Given the description of an element on the screen output the (x, y) to click on. 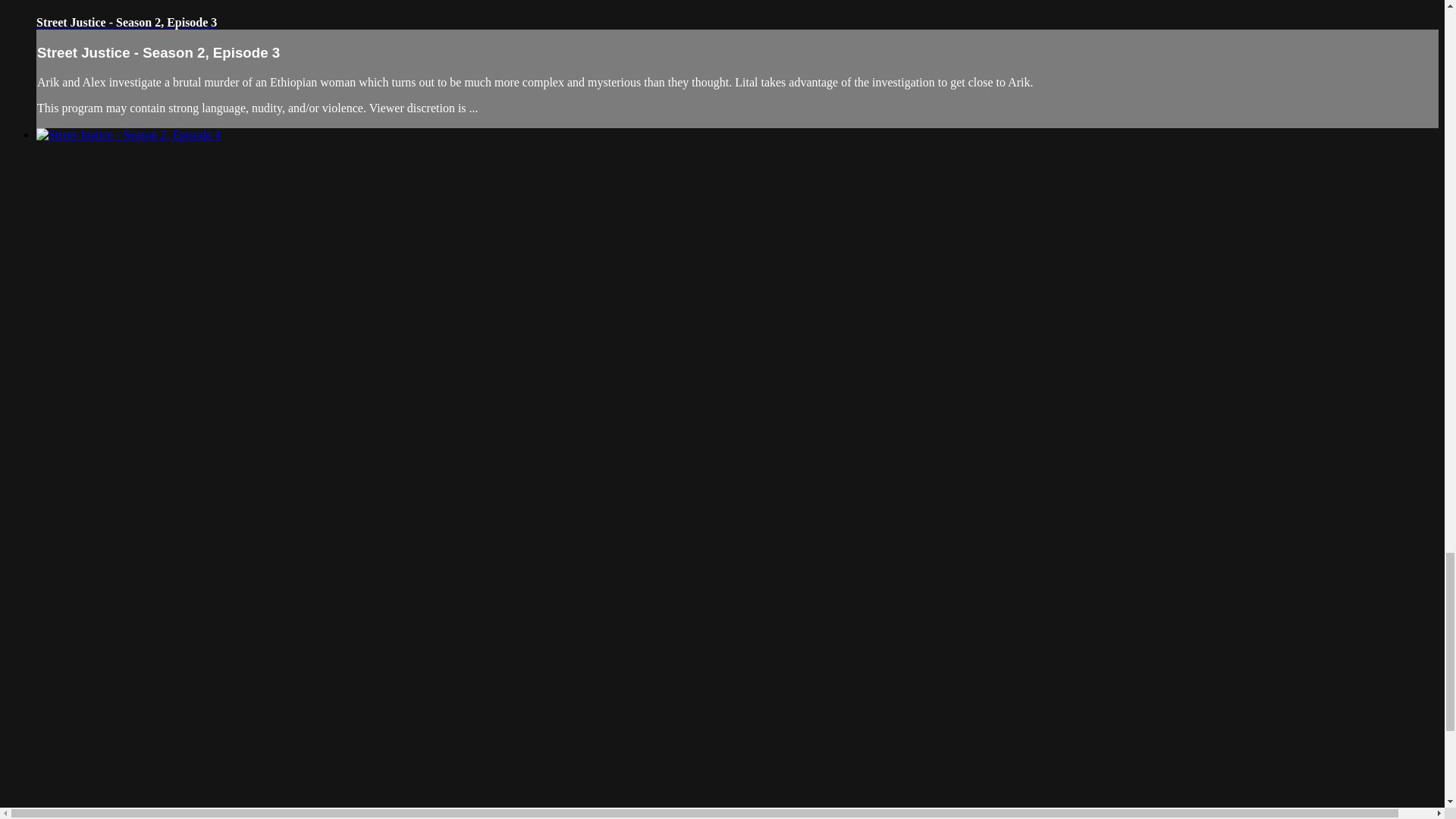
Street Justice - Season 2, Episode 3 (126, 21)
Street Justice - Season 2, Episode 3 (126, 21)
